Given the description of an element on the screen output the (x, y) to click on. 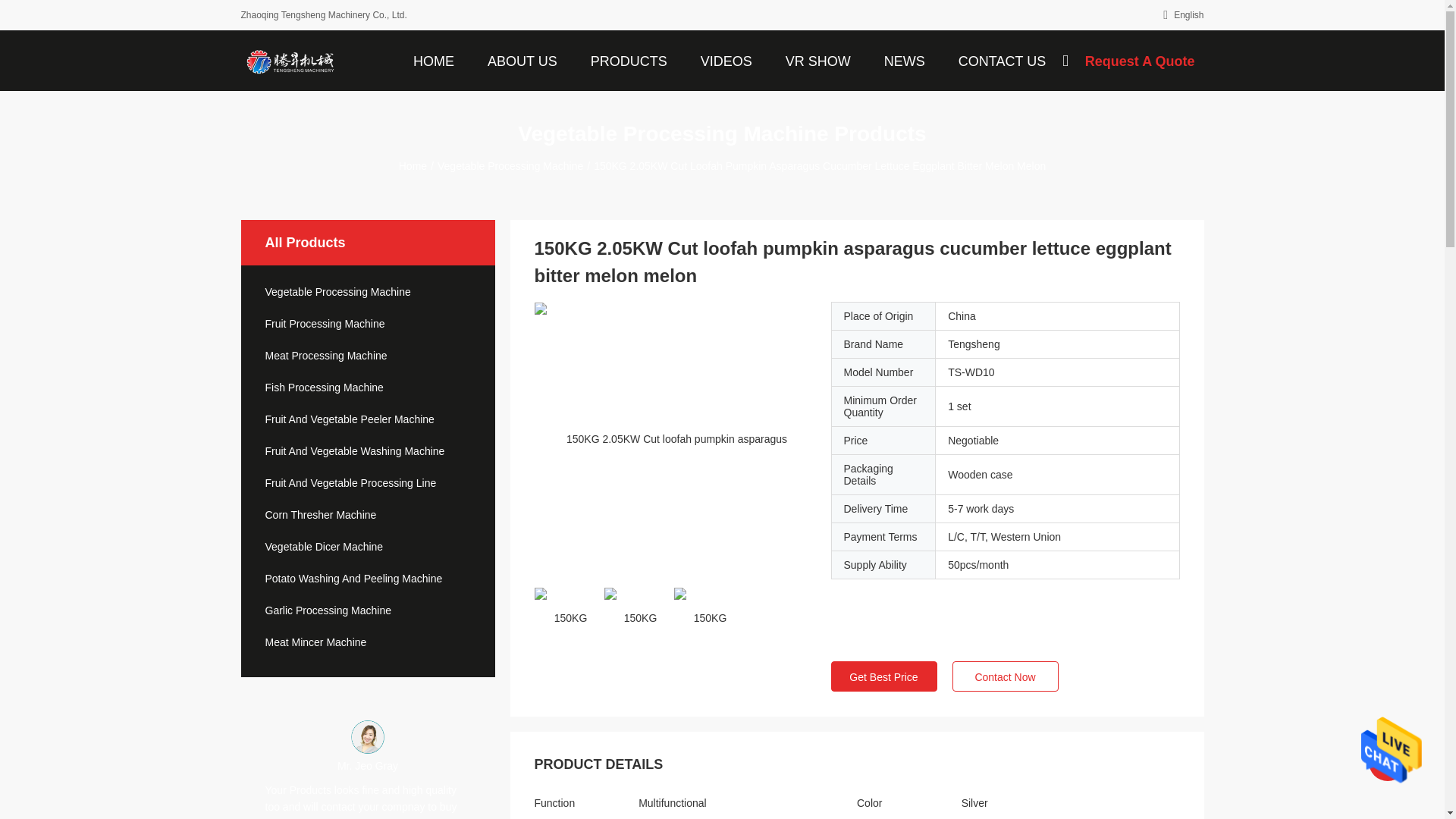
HOME (433, 60)
PRODUCTS (628, 60)
ABOUT US (522, 60)
